Given the description of an element on the screen output the (x, y) to click on. 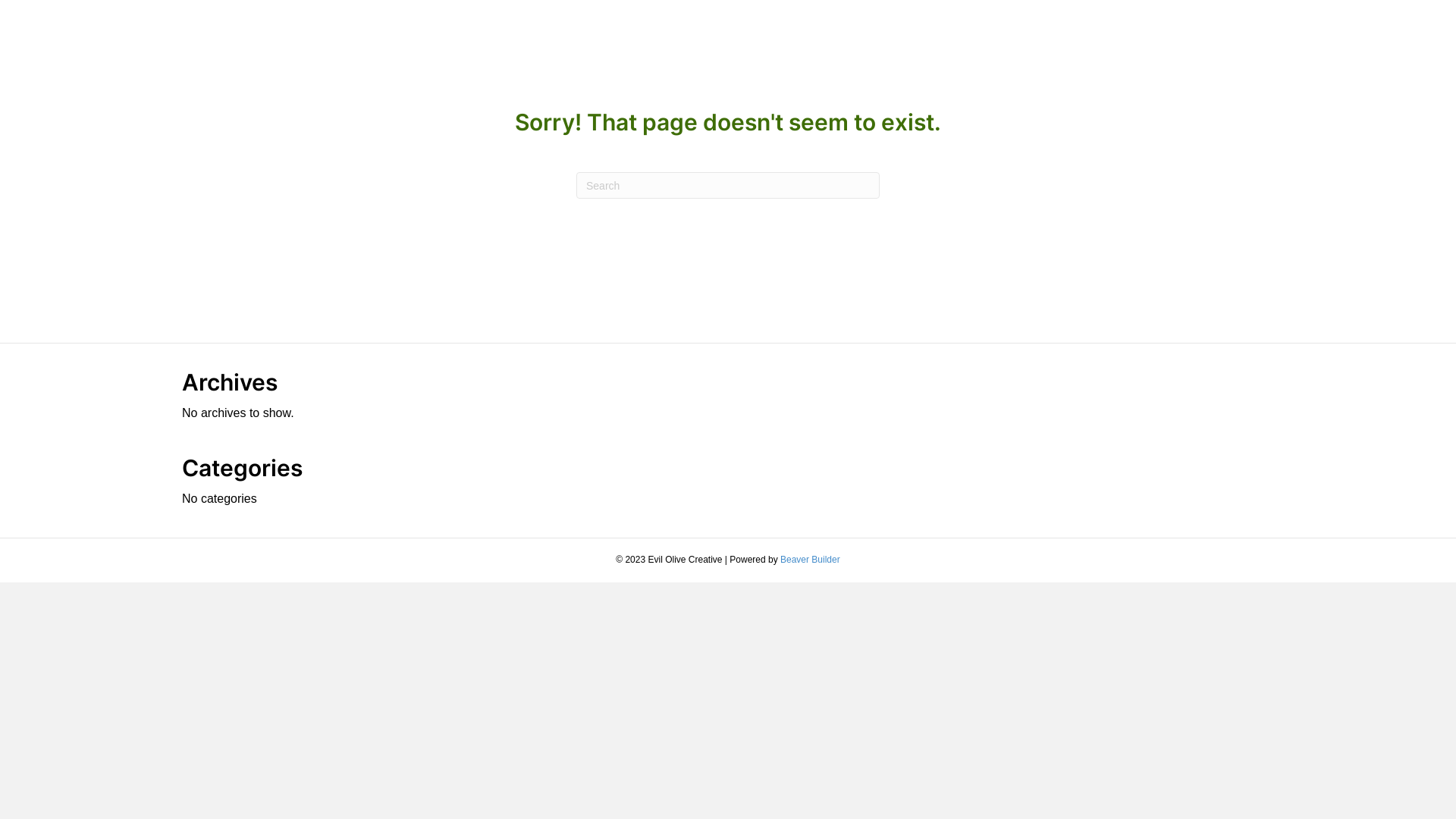
Beaver Builder Element type: text (810, 559)
Type and press Enter to search. Element type: hover (727, 185)
